Given the description of an element on the screen output the (x, y) to click on. 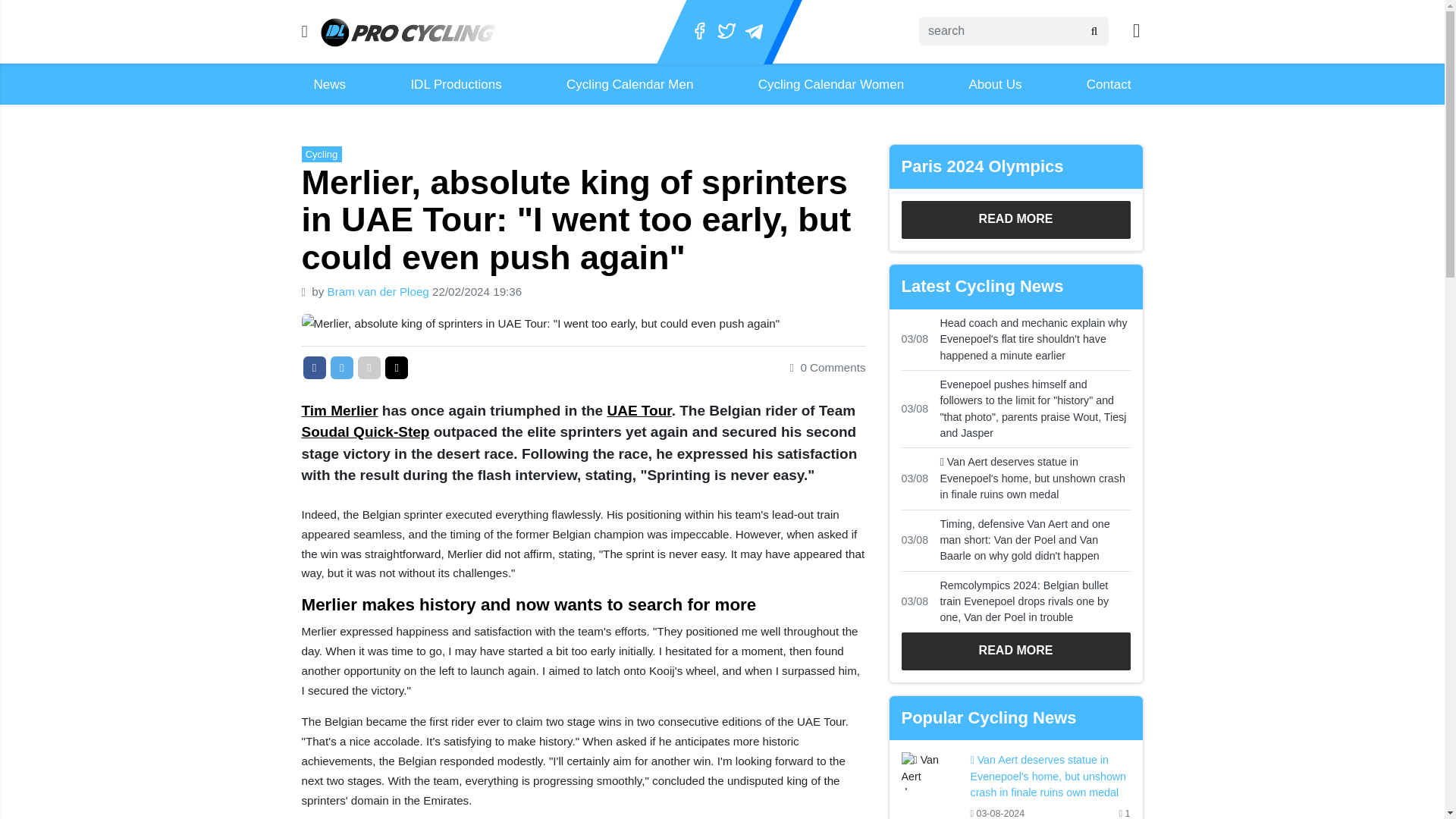
Share on Twitter (341, 367)
Share on Facebook (314, 367)
Share on Facebook (314, 367)
0 Comments (828, 367)
Share link (396, 367)
UAE Tour (639, 410)
tim merlier (339, 410)
News (329, 84)
Soudal Quick-Step (365, 431)
Cycling Calendar Men (629, 84)
Share link (396, 367)
Soudal Quick-Step (365, 431)
Bram van der Ploeg (379, 291)
IDL Productions (455, 84)
Share on Twitter (341, 367)
